Given the description of an element on the screen output the (x, y) to click on. 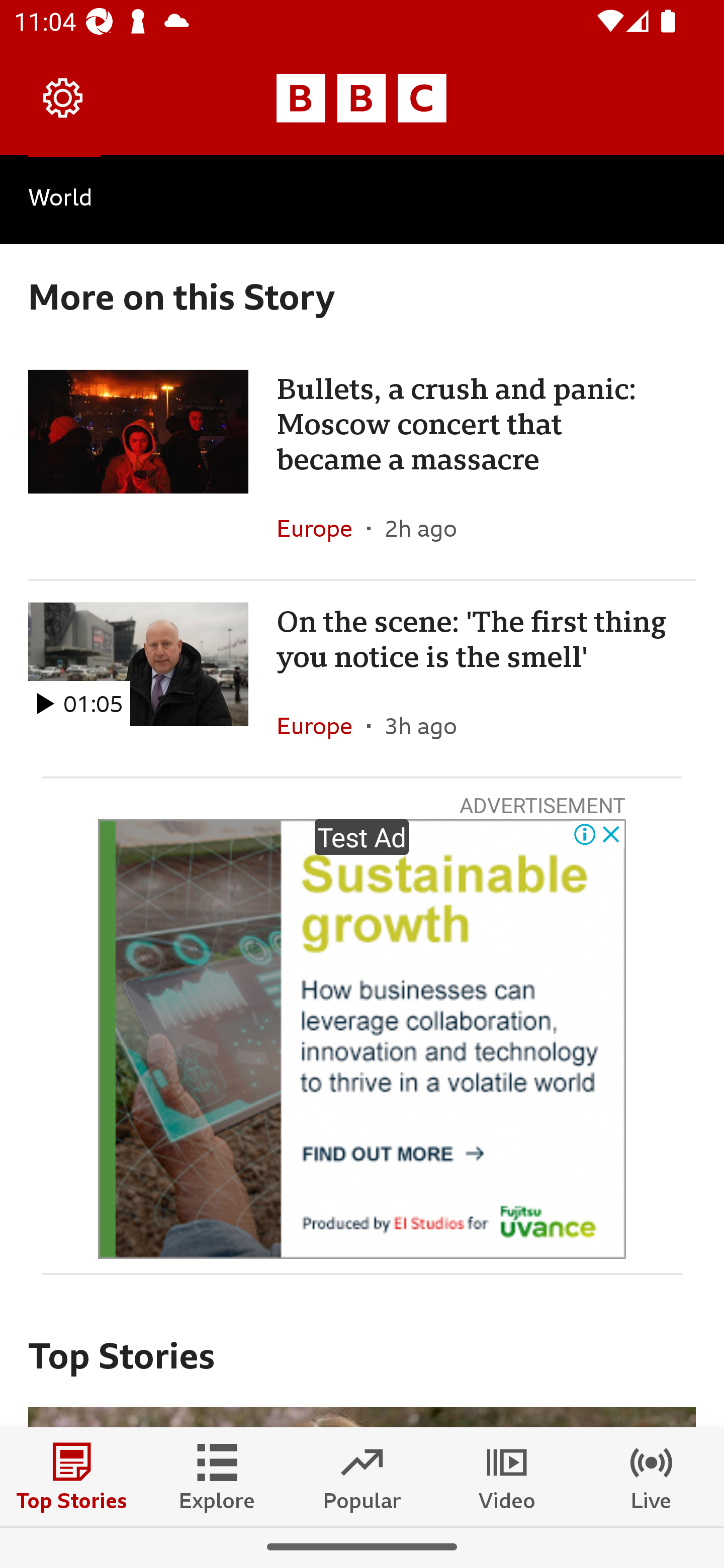
Settings (63, 97)
World In the section World (362, 199)
World In the section World (60, 200)
Europe In the section Europe (321, 527)
Europe In the section Europe (321, 725)
Explore (216, 1475)
Popular (361, 1475)
Video (506, 1475)
Live (651, 1475)
